Given the description of an element on the screen output the (x, y) to click on. 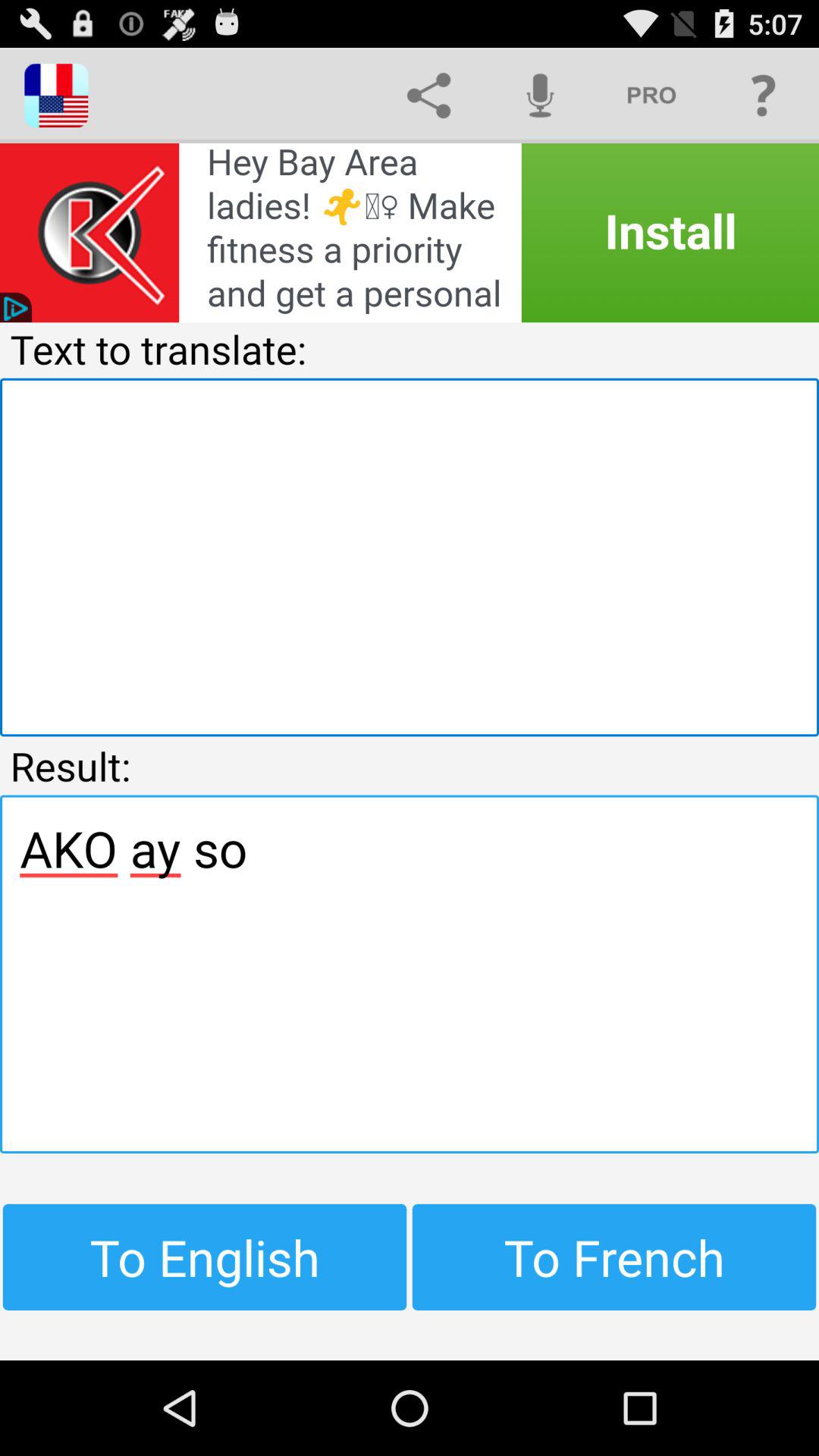
text to translate (409, 557)
